Given the description of an element on the screen output the (x, y) to click on. 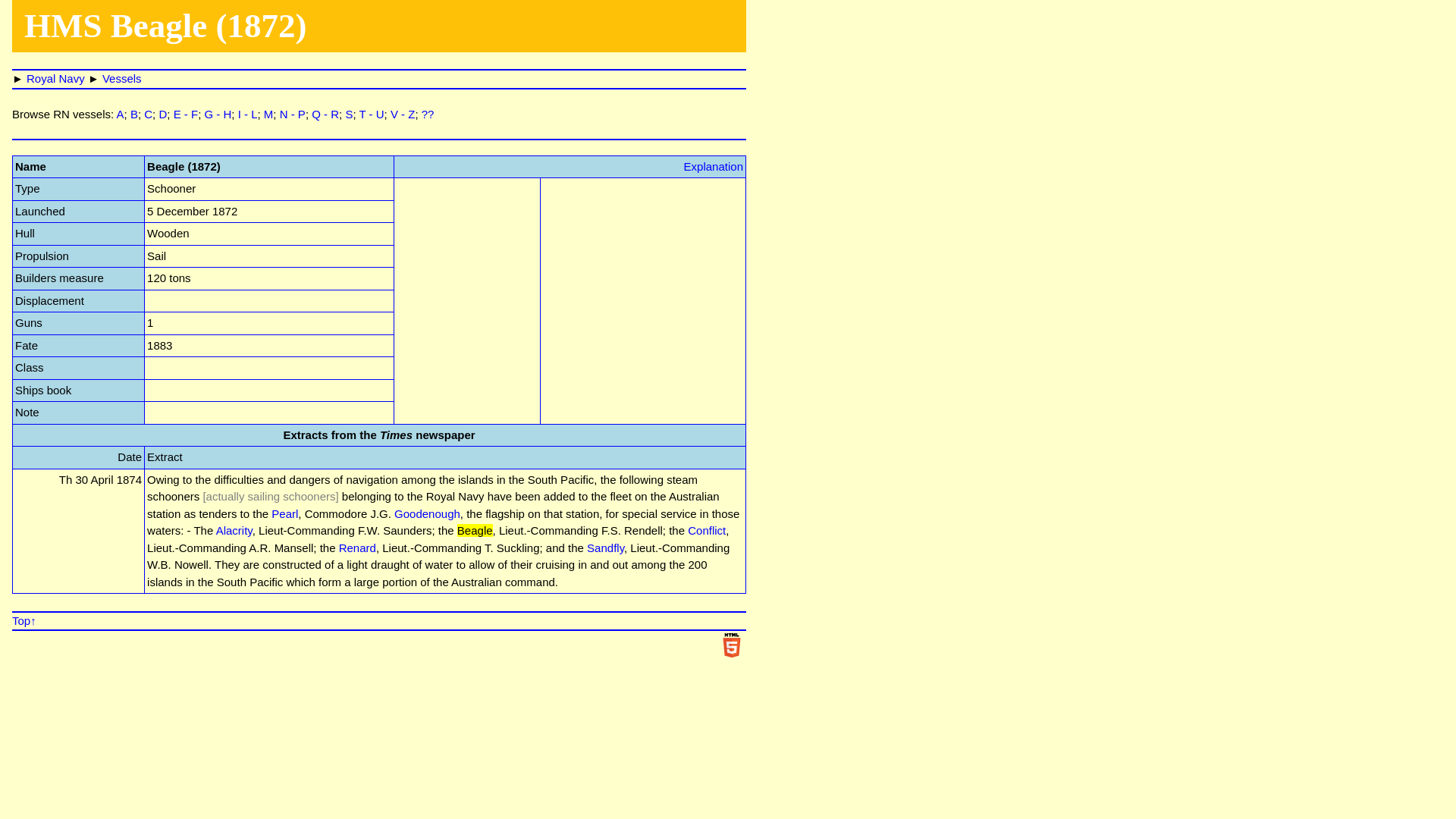
B (134, 113)
N - P (292, 113)
Conflict (706, 530)
Beagle (475, 530)
D (162, 113)
Sandfly (605, 547)
?? (427, 113)
A (119, 113)
Explanation (713, 165)
Renard (357, 547)
Royal Navy (55, 78)
C (148, 113)
Vessels (121, 78)
I - L (247, 113)
V - Z (402, 113)
